Given the description of an element on the screen output the (x, y) to click on. 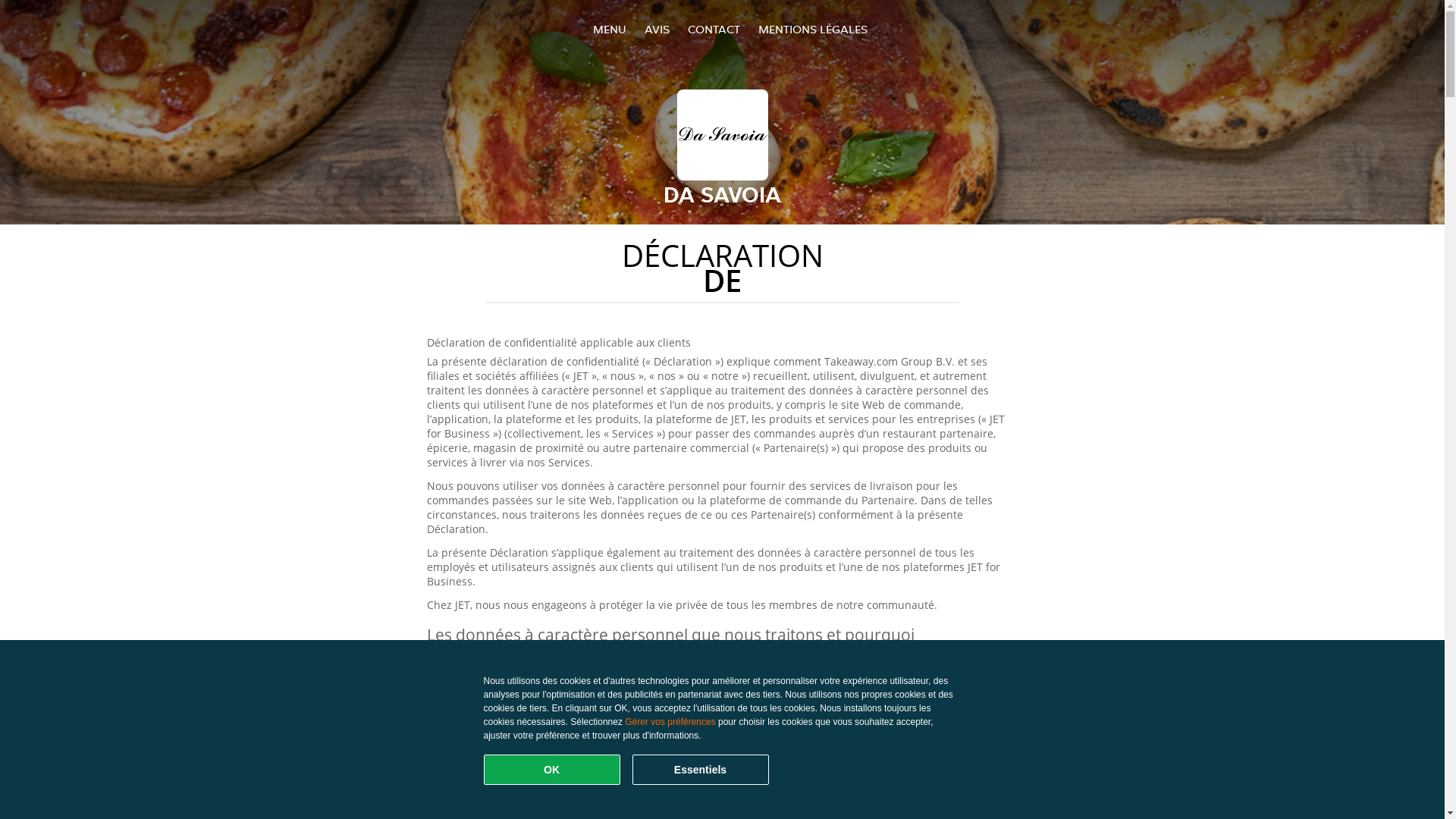
MENU Element type: text (609, 29)
Essentiels Element type: text (700, 769)
AVIS Element type: text (656, 29)
CONTACT Element type: text (713, 29)
OK Element type: text (551, 769)
